Given the description of an element on the screen output the (x, y) to click on. 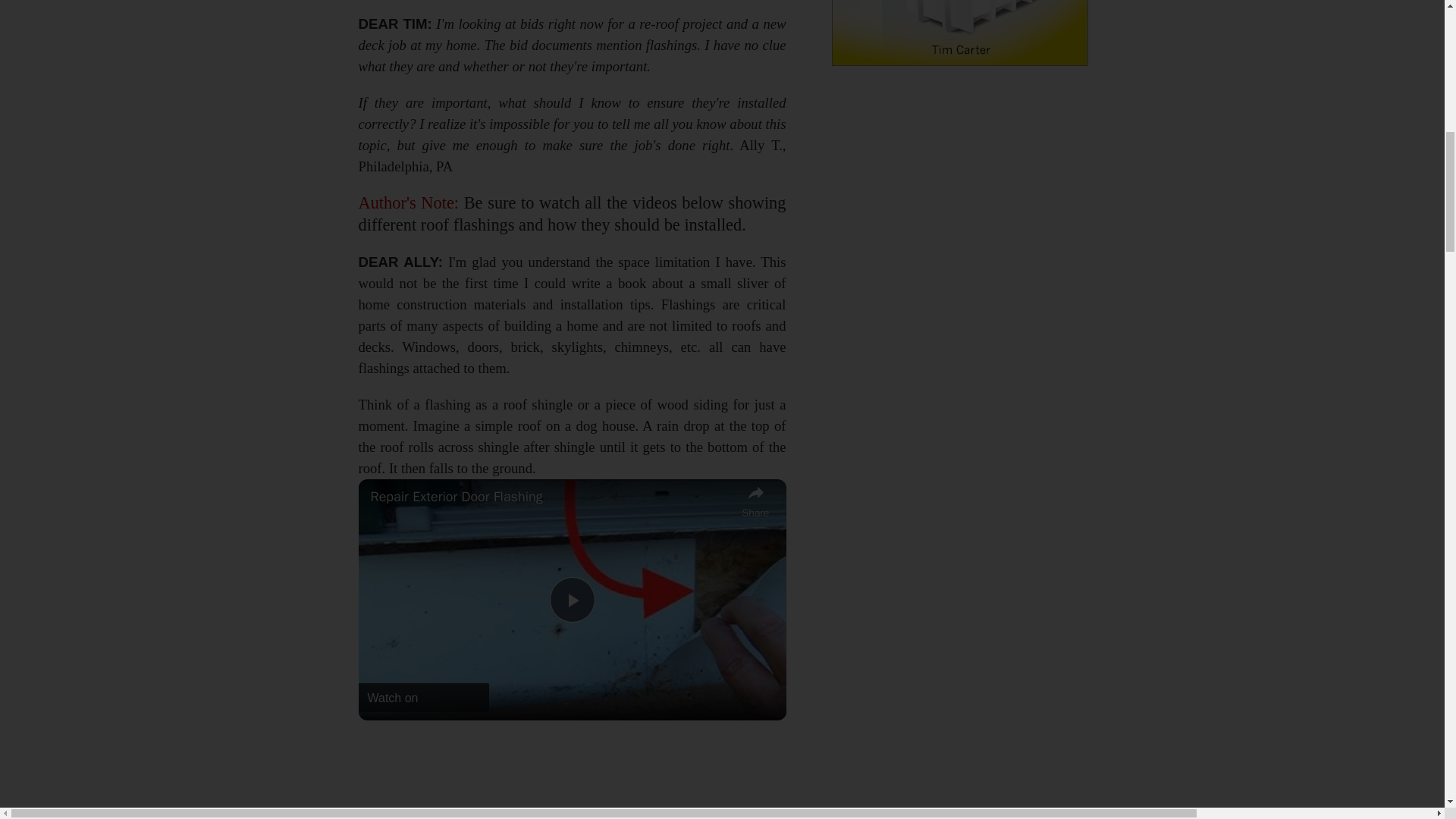
Play Video (571, 599)
Play Video (571, 599)
share (754, 499)
Share (754, 499)
Repair Exterior Door Flashing (551, 496)
Watch on (422, 697)
